Given the description of an element on the screen output the (x, y) to click on. 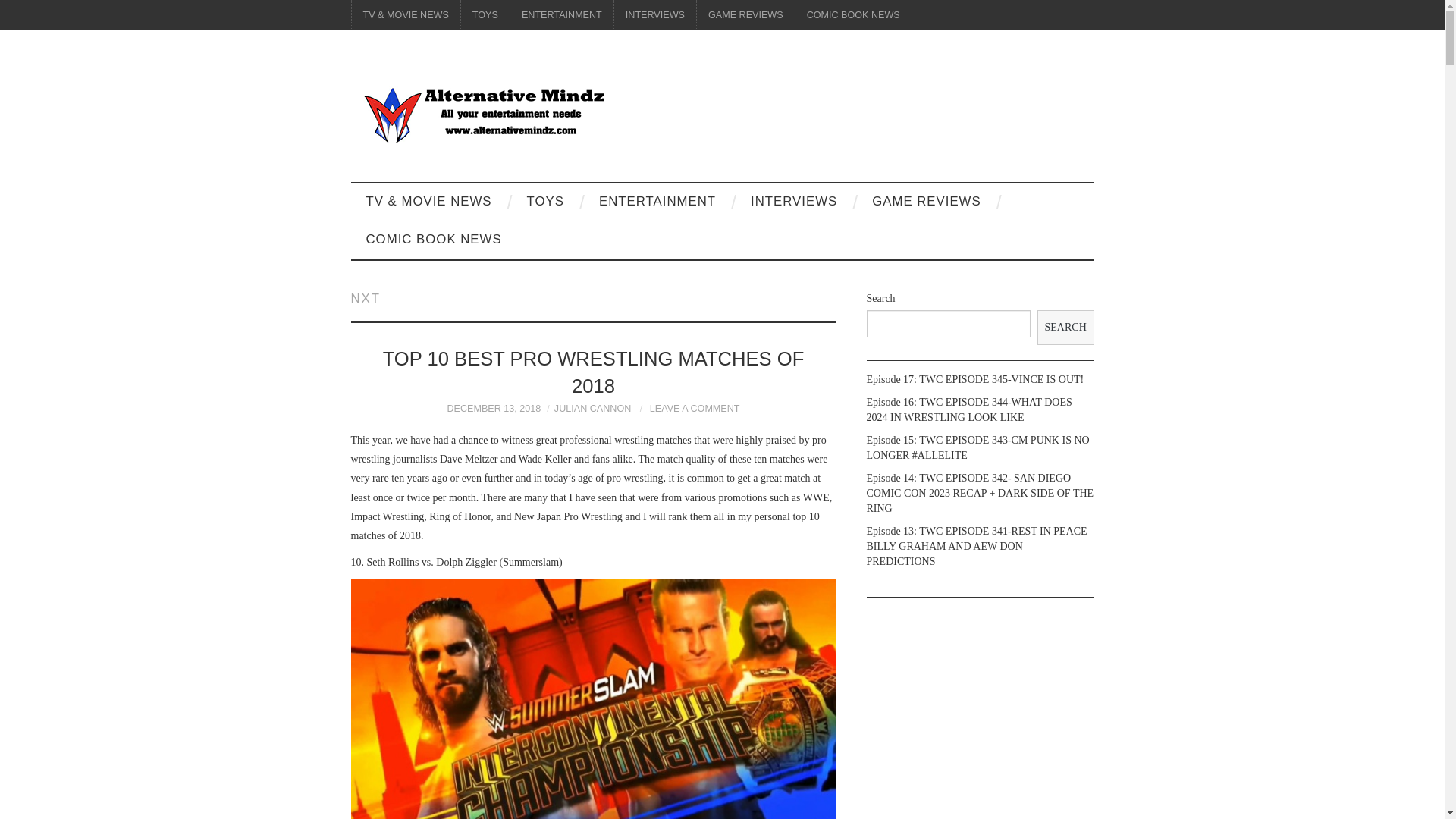
LEAVE A COMMENT (694, 408)
GAME REVIEWS (745, 15)
DECEMBER 13, 2018 (493, 408)
TOYS (485, 15)
JULIAN CANNON (592, 408)
TOYS (545, 201)
INTERVIEWS (654, 15)
GAME REVIEWS (926, 201)
ENTERTAINMENT (656, 201)
INTERVIEWS (793, 201)
